Given the description of an element on the screen output the (x, y) to click on. 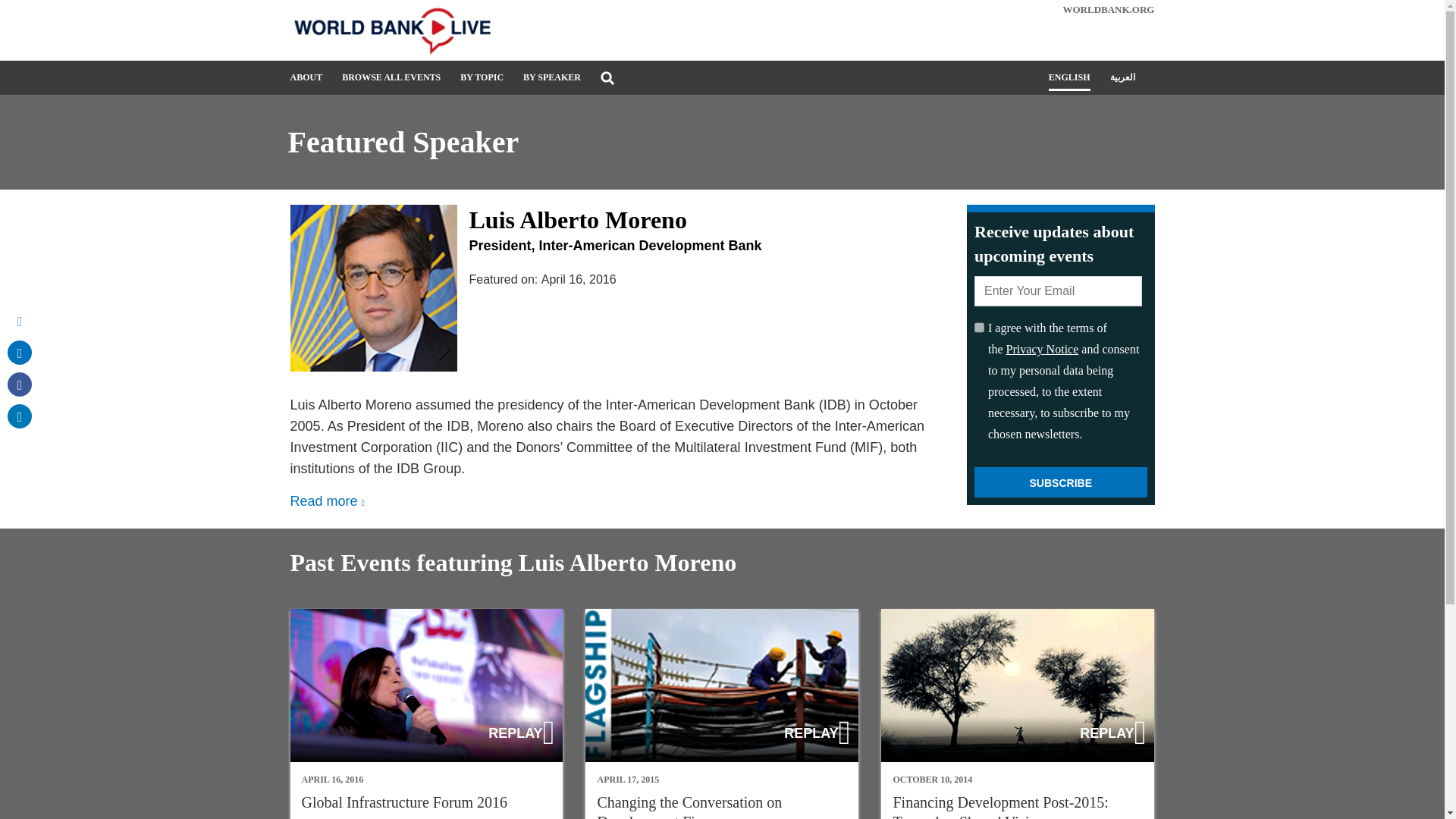
Email (19, 320)
Global Infrastructure Forum 2016 (425, 685)
Financing Development Post-2015: Towards a Shared Vision (1000, 806)
About (305, 82)
Post (19, 352)
Financing Development Post-2015: Towards a Shared Vision (1017, 714)
World Bank Live (425, 30)
WORLDBANK.ORG (1108, 9)
Browse All Events (391, 82)
